Given the description of an element on the screen output the (x, y) to click on. 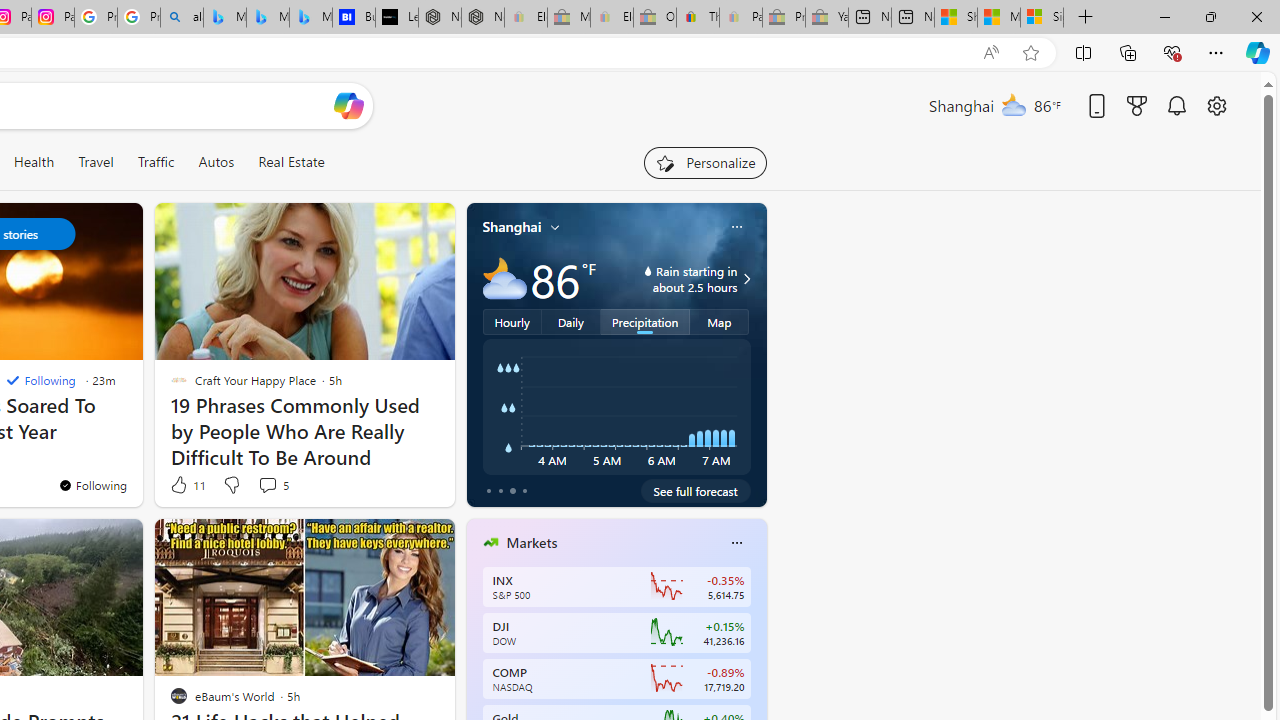
Rain starting in about 2.5 hours (744, 278)
water-drop-icon Rain starting in about 2.5 hours (674, 278)
Precipitation (645, 321)
Map (719, 321)
Shanghai, China hourly forecast | Microsoft Weather (955, 17)
Shanghai (511, 227)
Hide this story (393, 542)
Microsoft Bing Travel - Shangri-La Hotel Bangkok (310, 17)
tab-1 (500, 490)
